Given the description of an element on the screen output the (x, y) to click on. 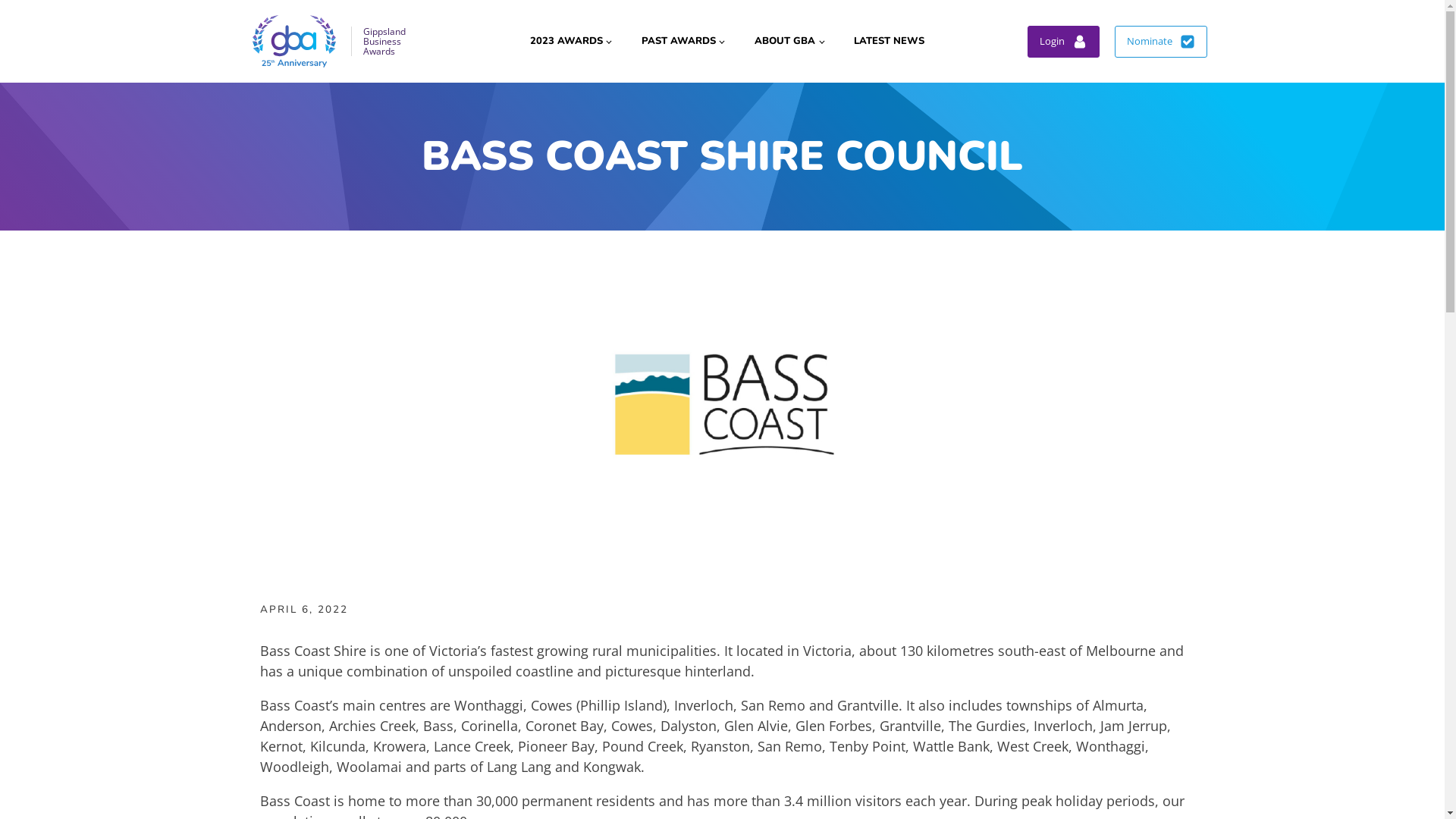
ABOUT GBA Element type: text (788, 41)
2023 AWARDS Element type: text (570, 41)
Login Element type: text (1063, 41)
Nominate Element type: text (1160, 41)
LATEST NEWS Element type: text (888, 41)
PAST AWARDS Element type: text (682, 41)
Gippsland
Business
Awards Element type: text (331, 41)
